Given the description of an element on the screen output the (x, y) to click on. 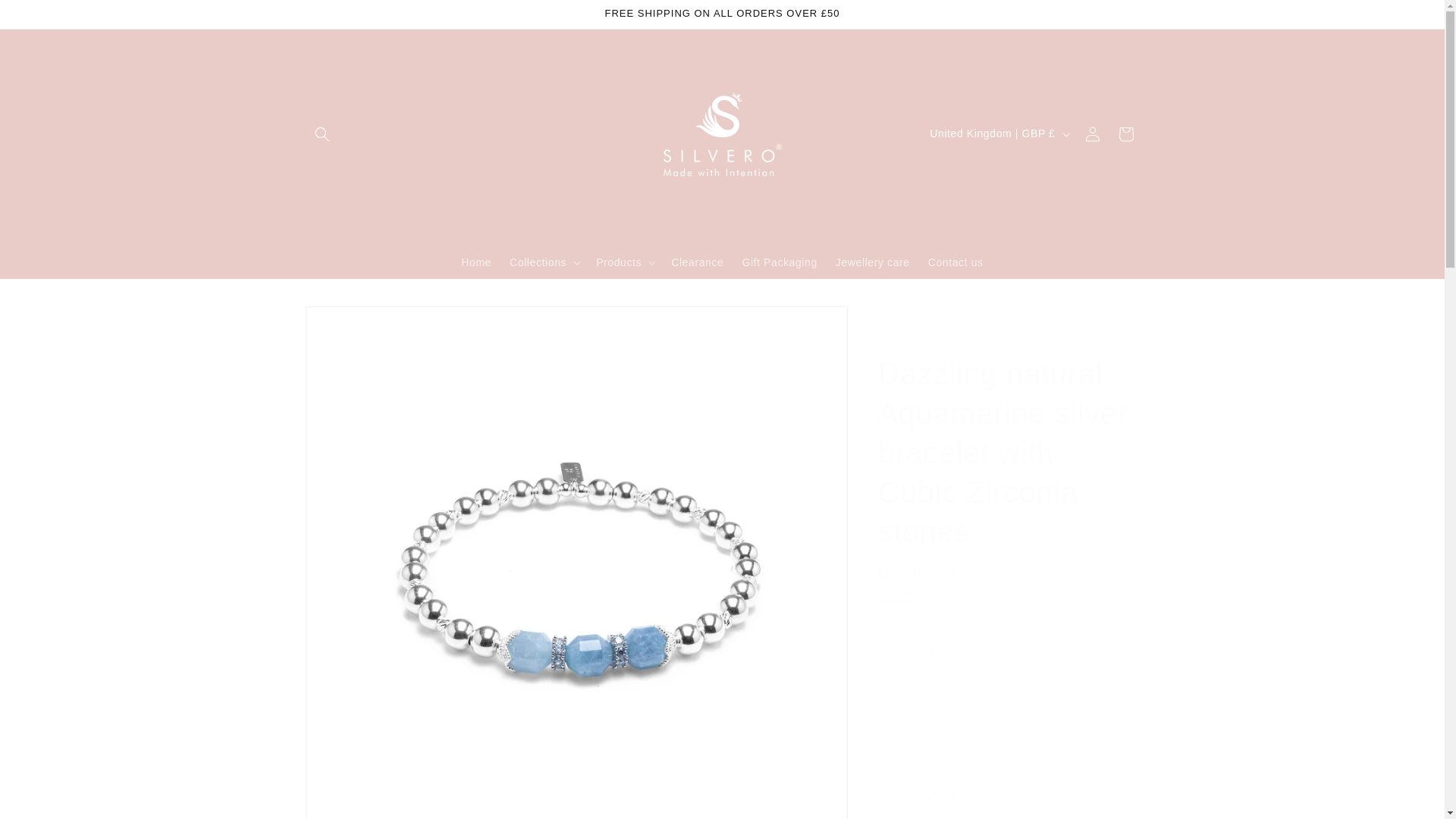
1 (931, 651)
Skip to content (45, 17)
Home (475, 261)
